Given the description of an element on the screen output the (x, y) to click on. 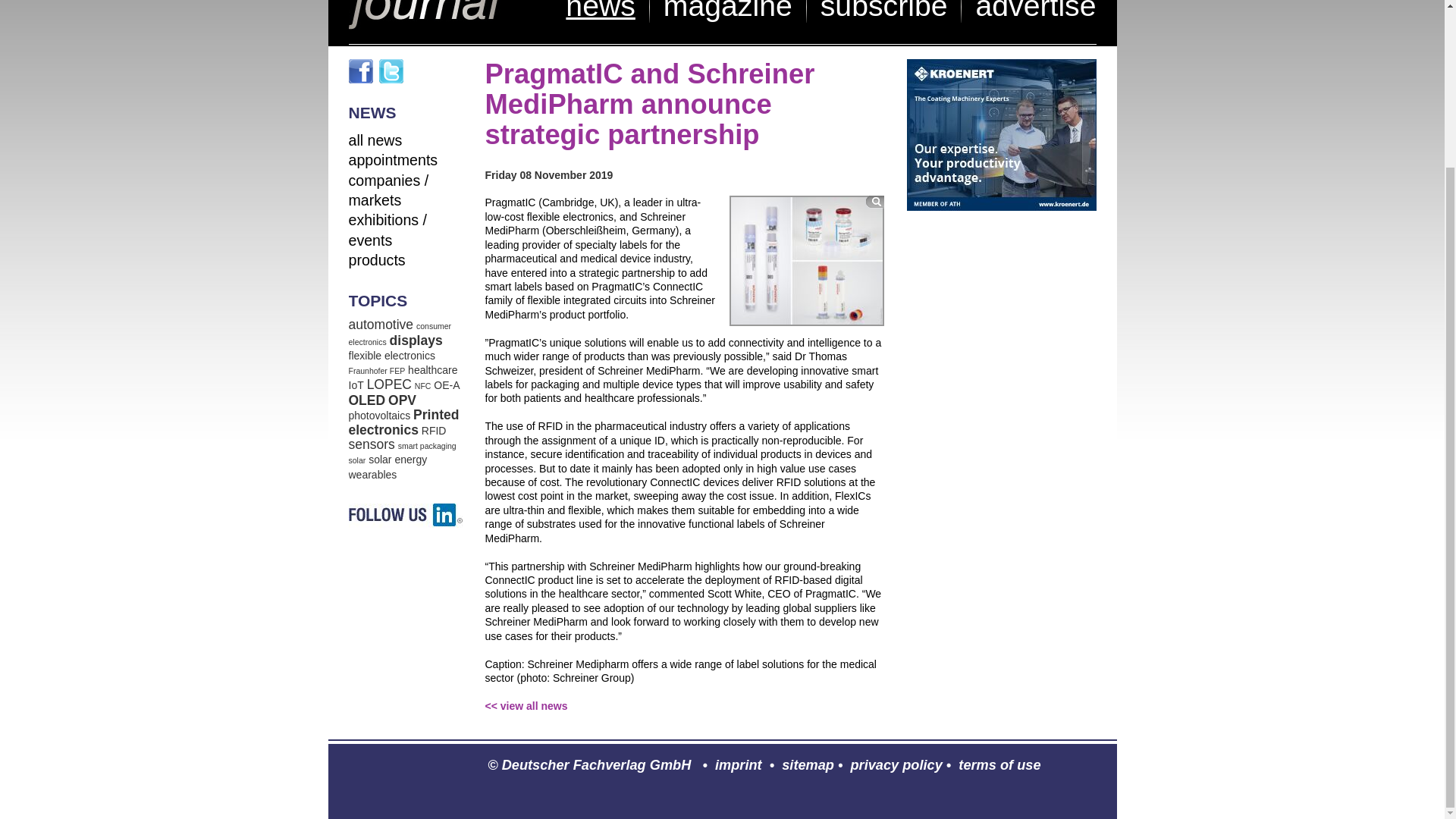
displays (416, 340)
OPE Journal (424, 14)
OE-A (446, 385)
NFC (422, 385)
magazine (727, 11)
healthcare (432, 369)
IoT (356, 385)
photovoltaics (379, 415)
Magazine (727, 11)
OPV (402, 400)
Advertise (1035, 11)
all news (376, 139)
